Given the description of an element on the screen output the (x, y) to click on. 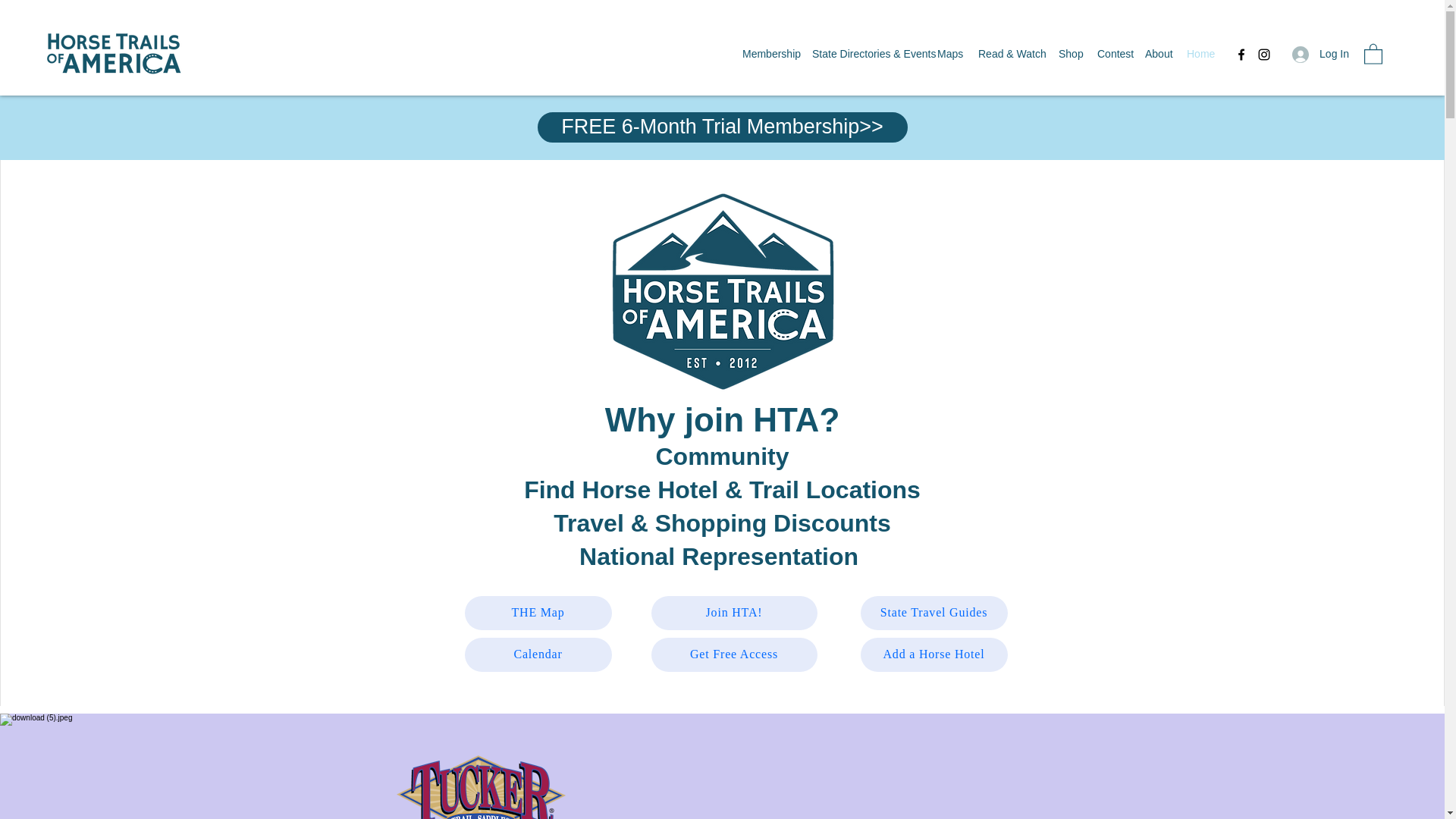
Join HTA! (733, 612)
THE Map (537, 612)
Contest (1113, 53)
Log In (1320, 53)
Calendar (537, 654)
Home (1200, 53)
